Given the description of an element on the screen output the (x, y) to click on. 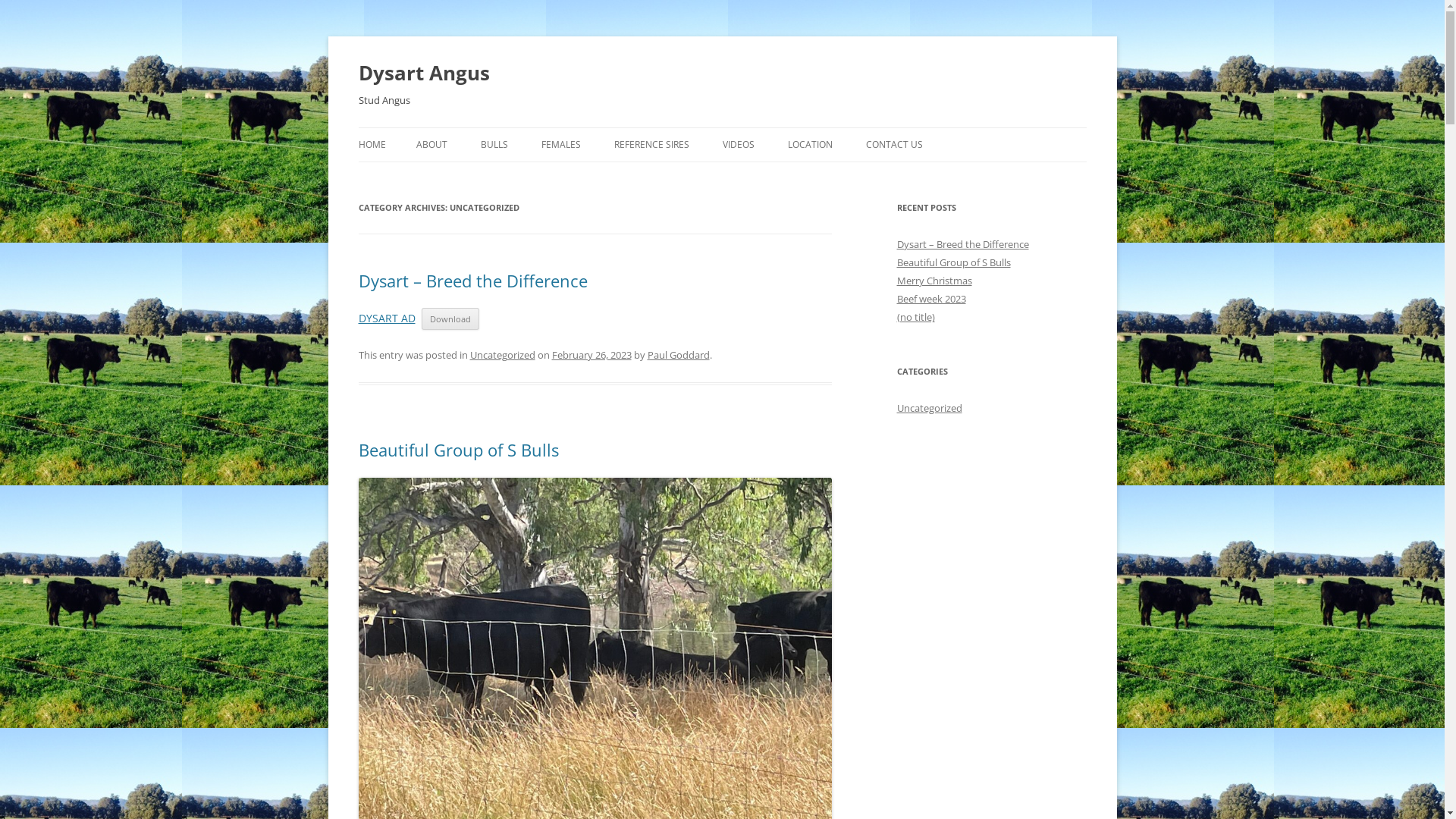
FEMALES Element type: text (560, 144)
Uncategorized Element type: text (928, 407)
HOME Element type: text (371, 144)
LOCATION Element type: text (809, 144)
Download Element type: text (450, 318)
Paul Goddard Element type: text (678, 354)
Beautiful Group of S Bulls Element type: text (953, 262)
VIDEOS Element type: text (737, 144)
Merry Christmas Element type: text (933, 280)
Dysart Angus Element type: text (423, 72)
BULLS Element type: text (494, 144)
Skip to content Element type: text (721, 127)
Beef week 2023 Element type: text (930, 298)
REFERENCE SIRES Element type: text (651, 144)
Beautiful Group of S Bulls Element type: text (457, 449)
Uncategorized Element type: text (502, 354)
(no title) Element type: text (915, 316)
DYSART AD Element type: text (385, 317)
ABOUT Element type: text (430, 144)
CONTACT US Element type: text (894, 144)
February 26, 2023 Element type: text (591, 354)
